Given the description of an element on the screen output the (x, y) to click on. 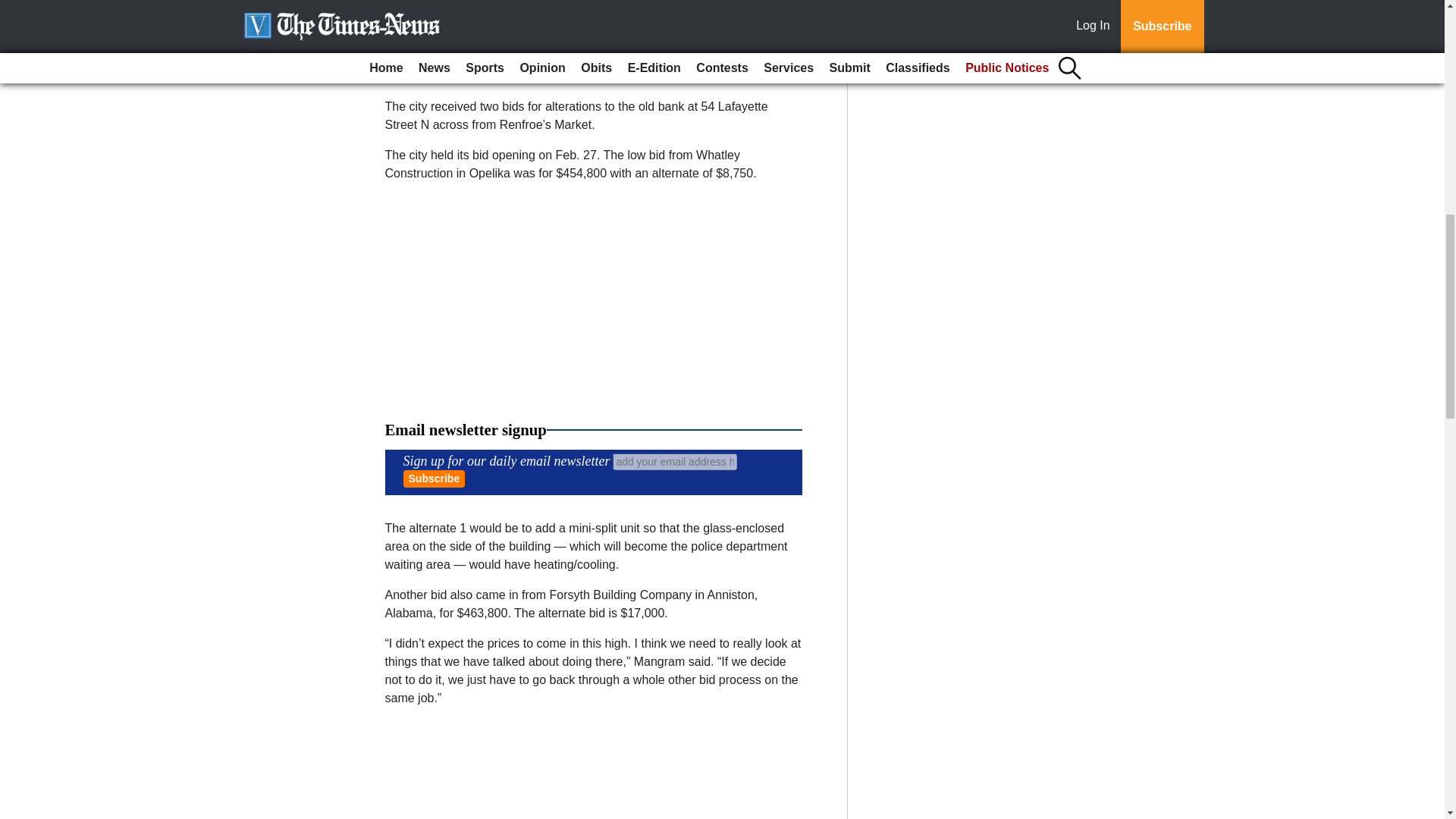
Subscribe (434, 478)
Subscribe (434, 478)
